Given the description of an element on the screen output the (x, y) to click on. 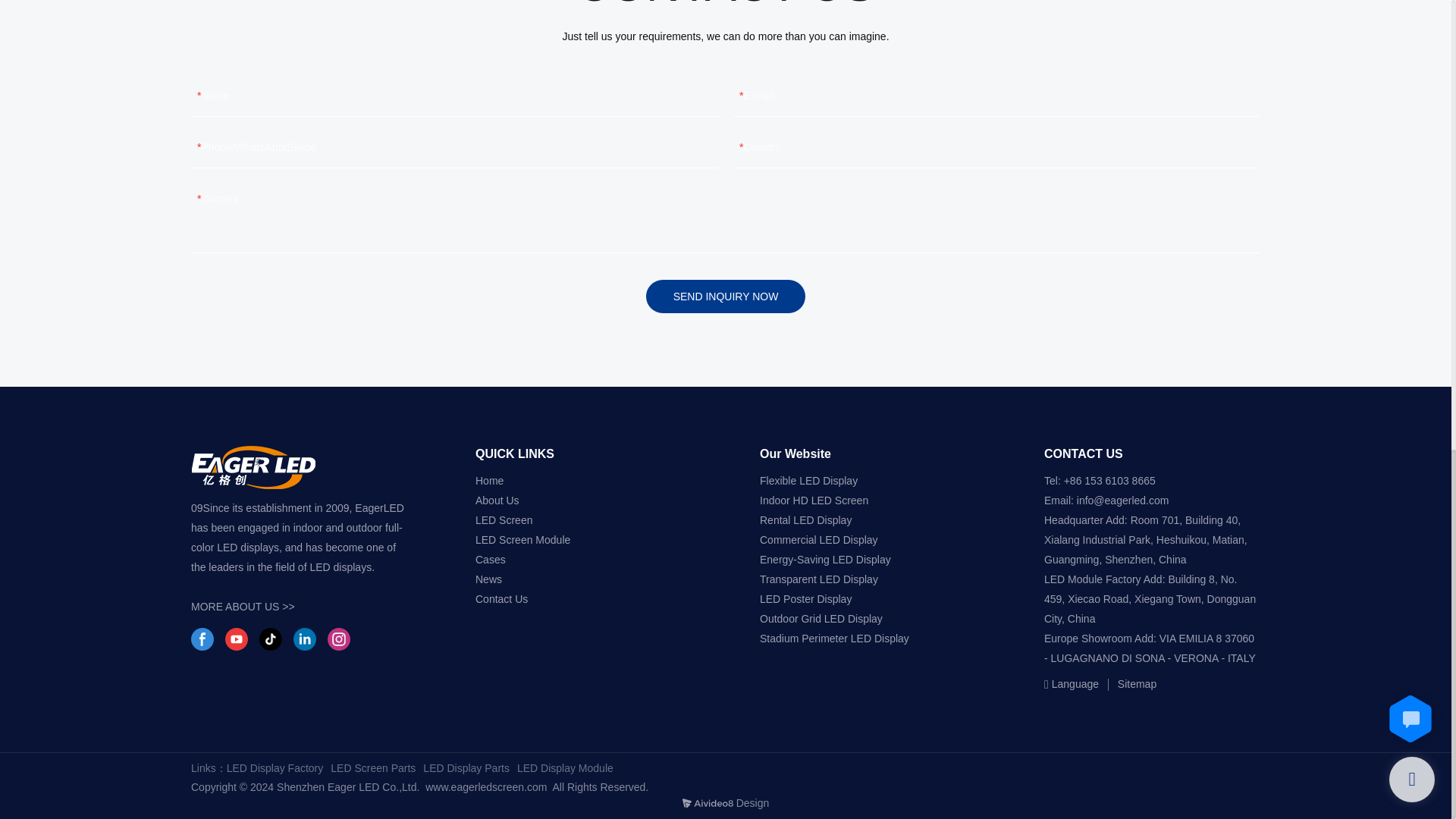
SEND INQUIRY NOW (726, 296)
youtube (236, 639)
facebook (202, 639)
